Given the description of an element on the screen output the (x, y) to click on. 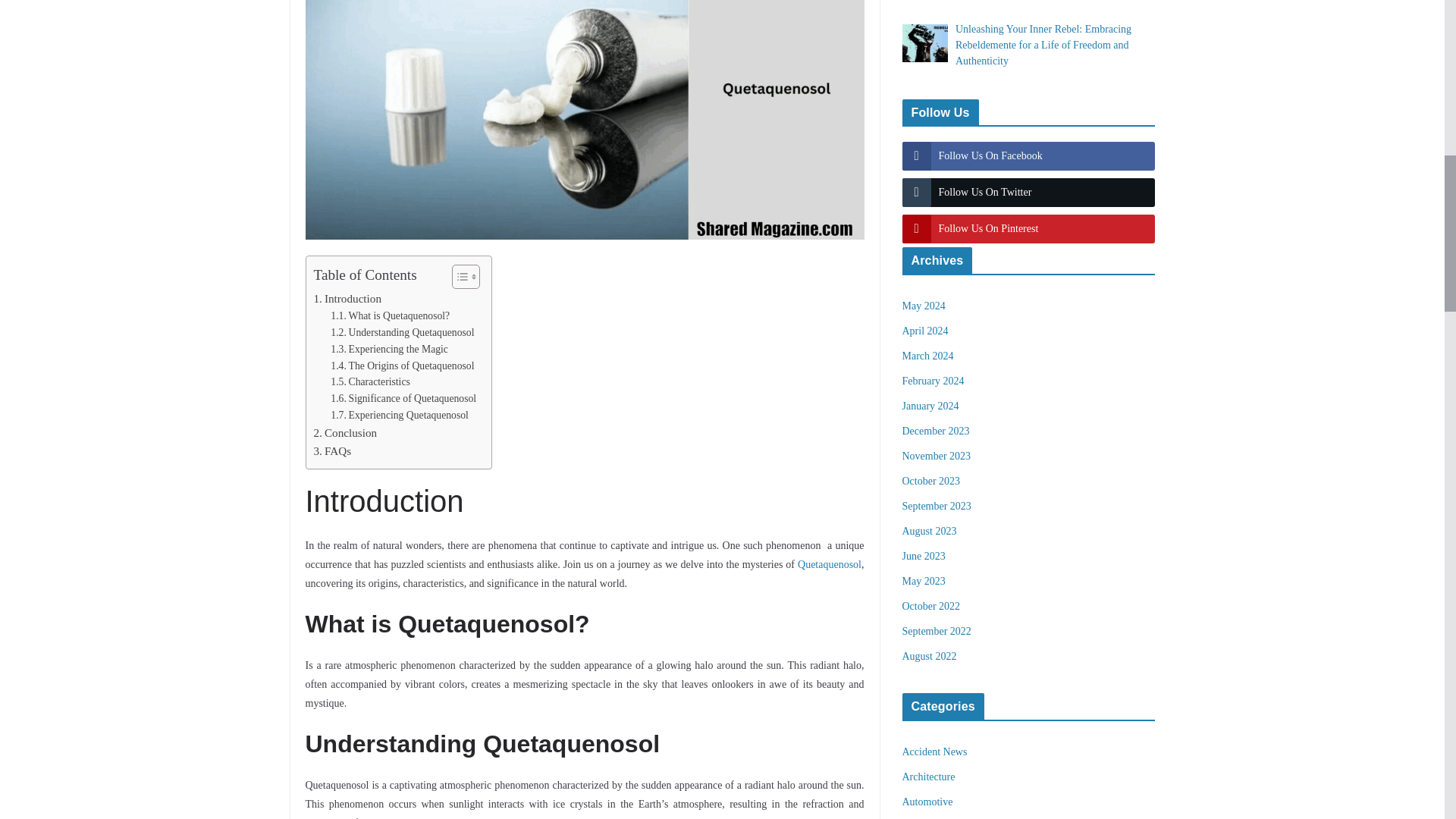
What is Quetaquenosol? (389, 315)
The Origins of Quetaquenosol (402, 365)
What is Quetaquenosol? (389, 315)
Understanding Quetaquenosol (402, 332)
Understanding Quetaquenosol (402, 332)
Experiencing the Magic (389, 349)
Introduction (347, 298)
Experiencing the Magic (389, 349)
Characteristics  (371, 381)
Introduction (347, 298)
